Given the description of an element on the screen output the (x, y) to click on. 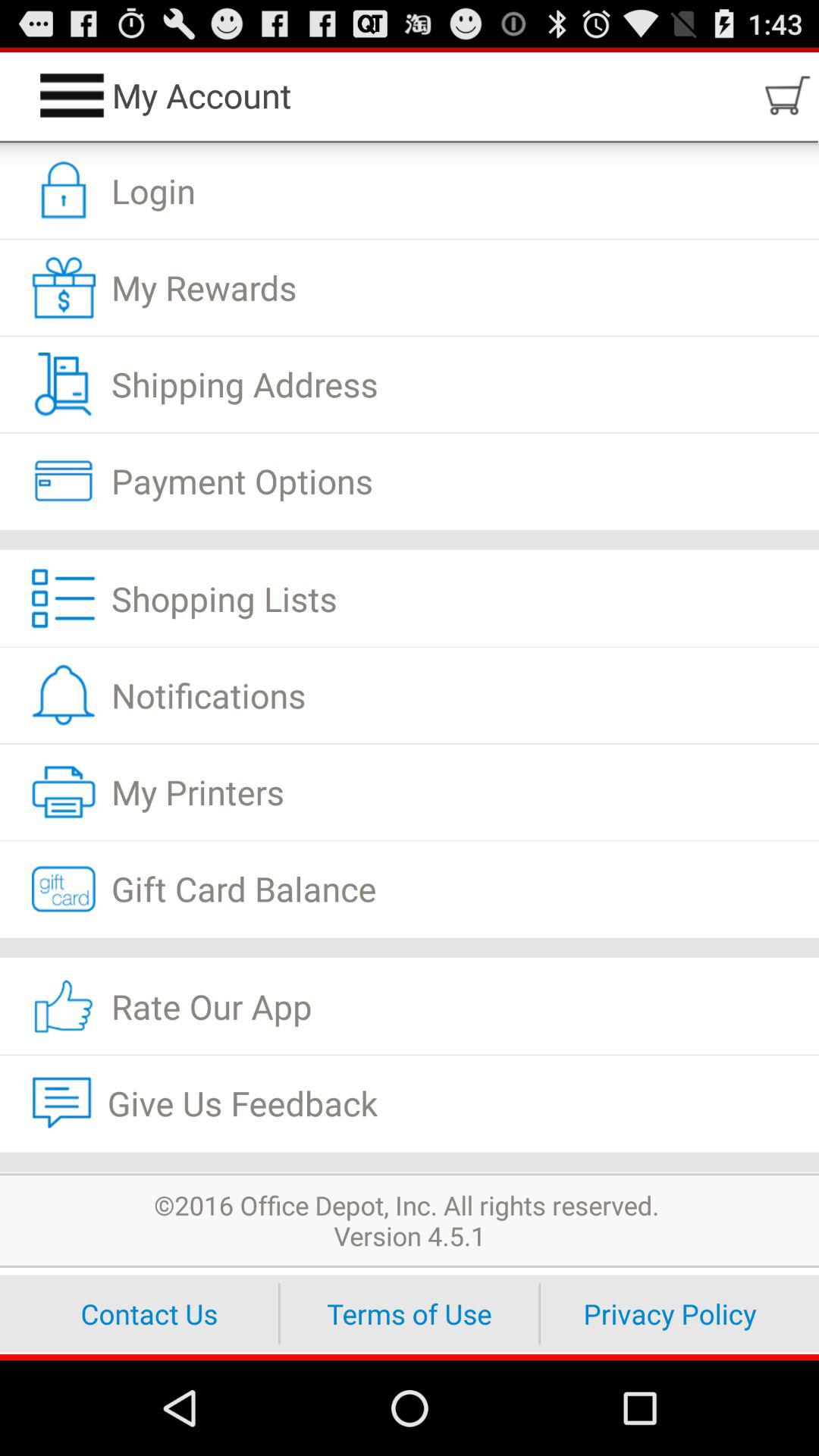
jump to the my rewards item (409, 287)
